Given the description of an element on the screen output the (x, y) to click on. 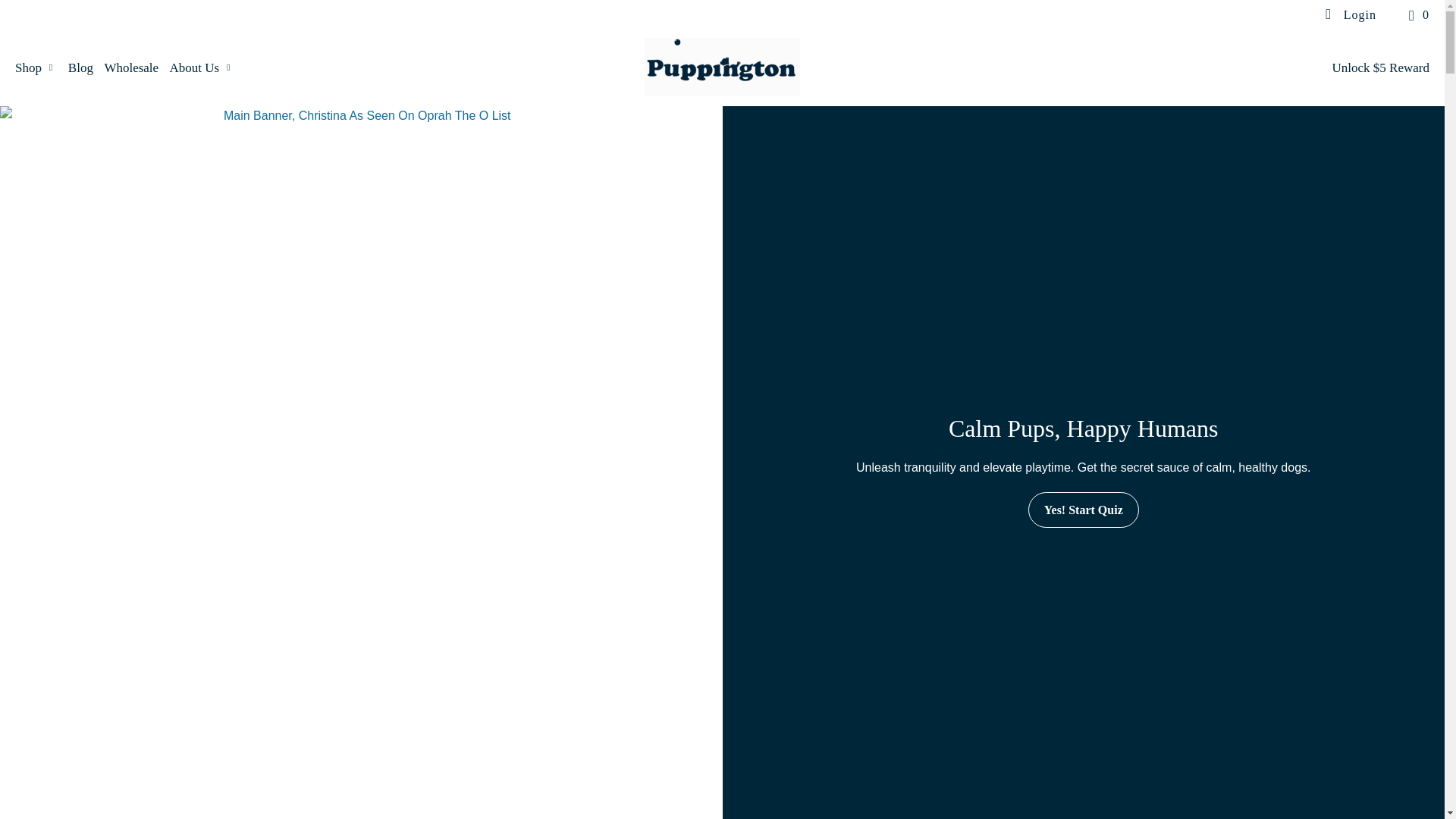
My Account  (1349, 15)
Shop (35, 67)
Login (1349, 15)
Puppington (722, 67)
